Given the description of an element on the screen output the (x, y) to click on. 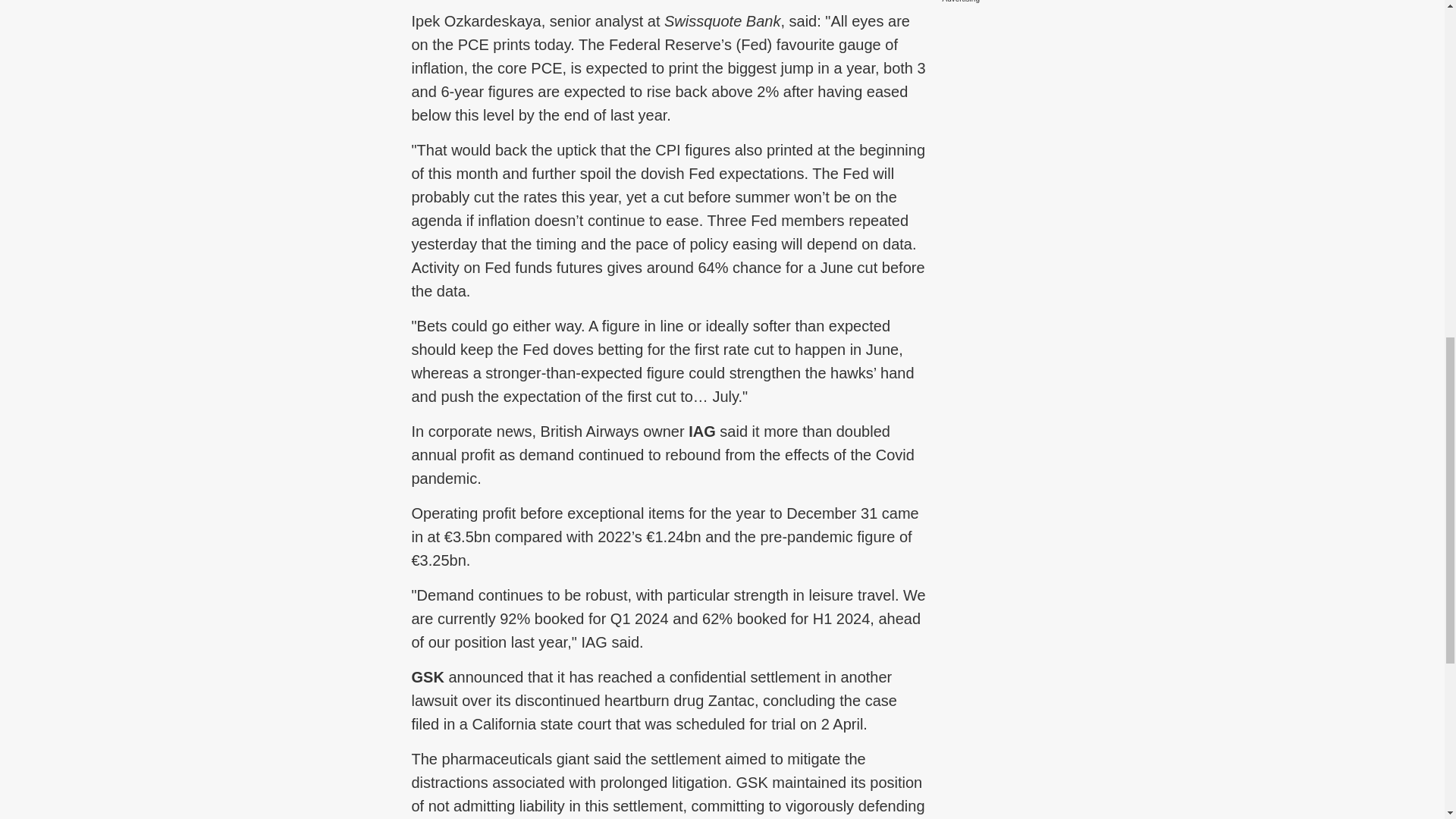
uk dl flag (290, 515)
dl drax group power energy electricity station ftse 250 min (325, 301)
